Given the description of an element on the screen output the (x, y) to click on. 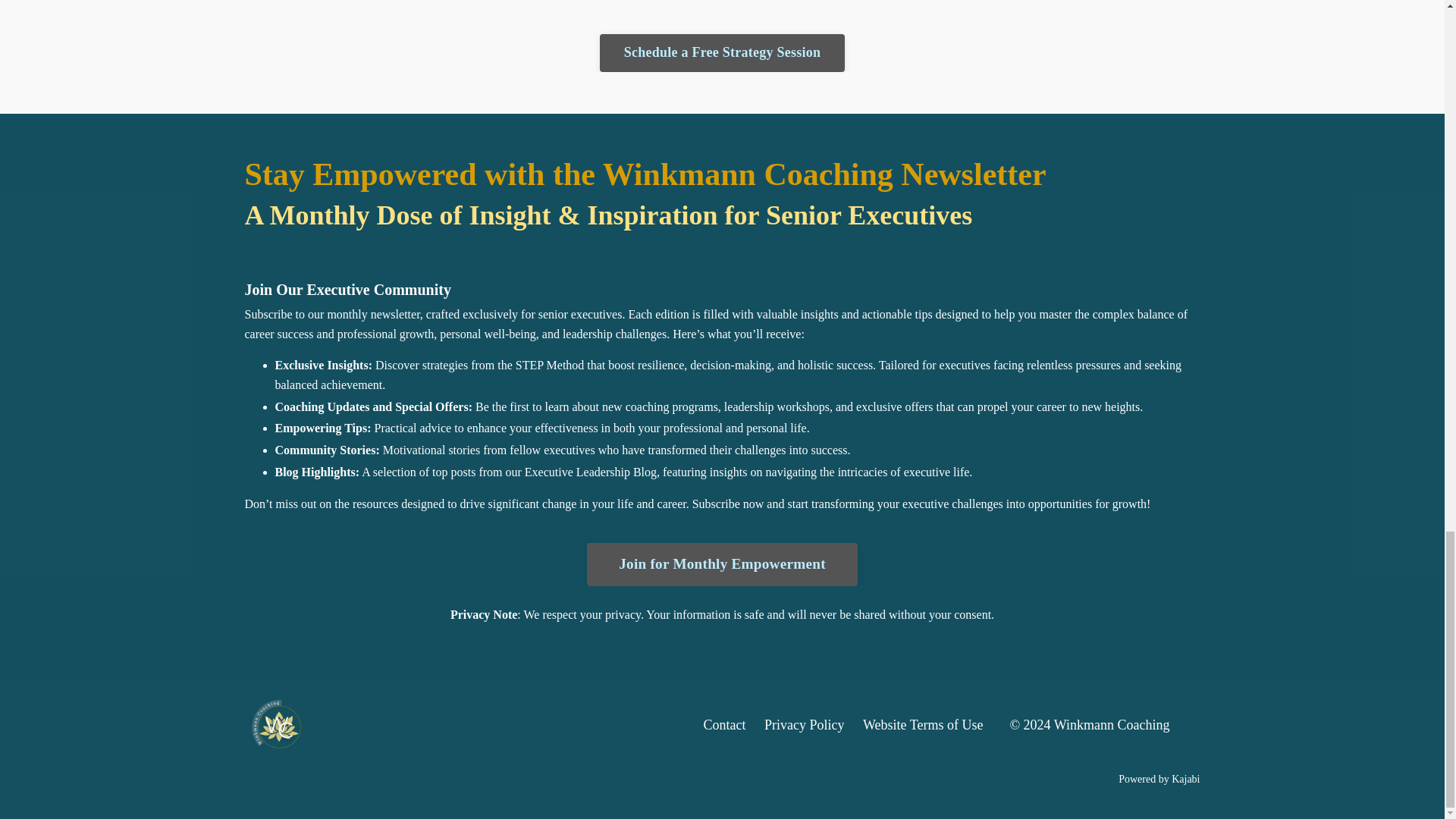
Join for Monthly Empowerment (721, 564)
Powered by Kajabi (1158, 778)
Contact (724, 724)
Schedule a Free Strategy Session (722, 53)
Website Terms of Use (922, 724)
Privacy Policy (804, 724)
